Given the description of an element on the screen output the (x, y) to click on. 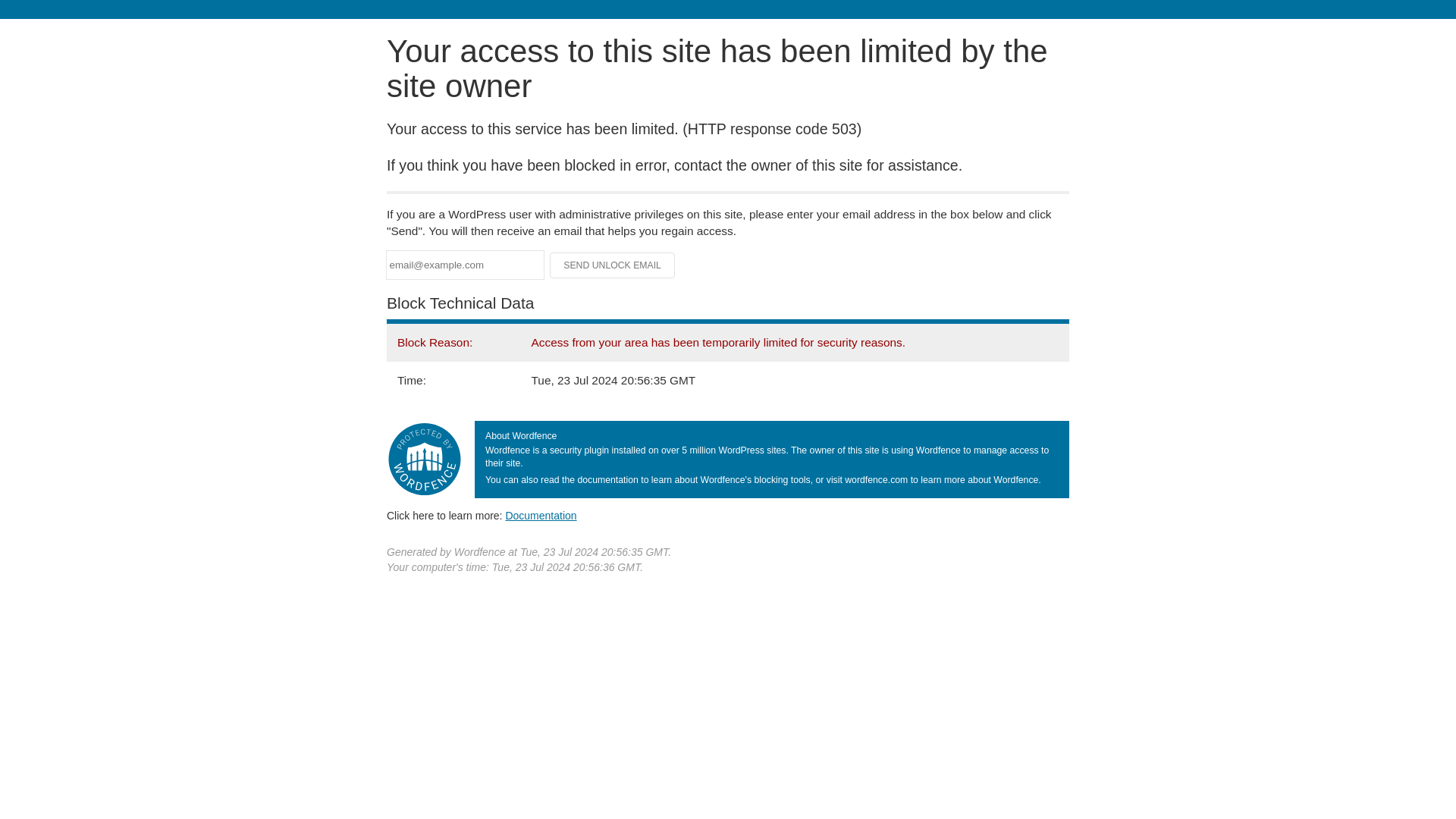
Send Unlock Email (612, 265)
Send Unlock Email (612, 265)
Documentation (540, 515)
